Given the description of an element on the screen output the (x, y) to click on. 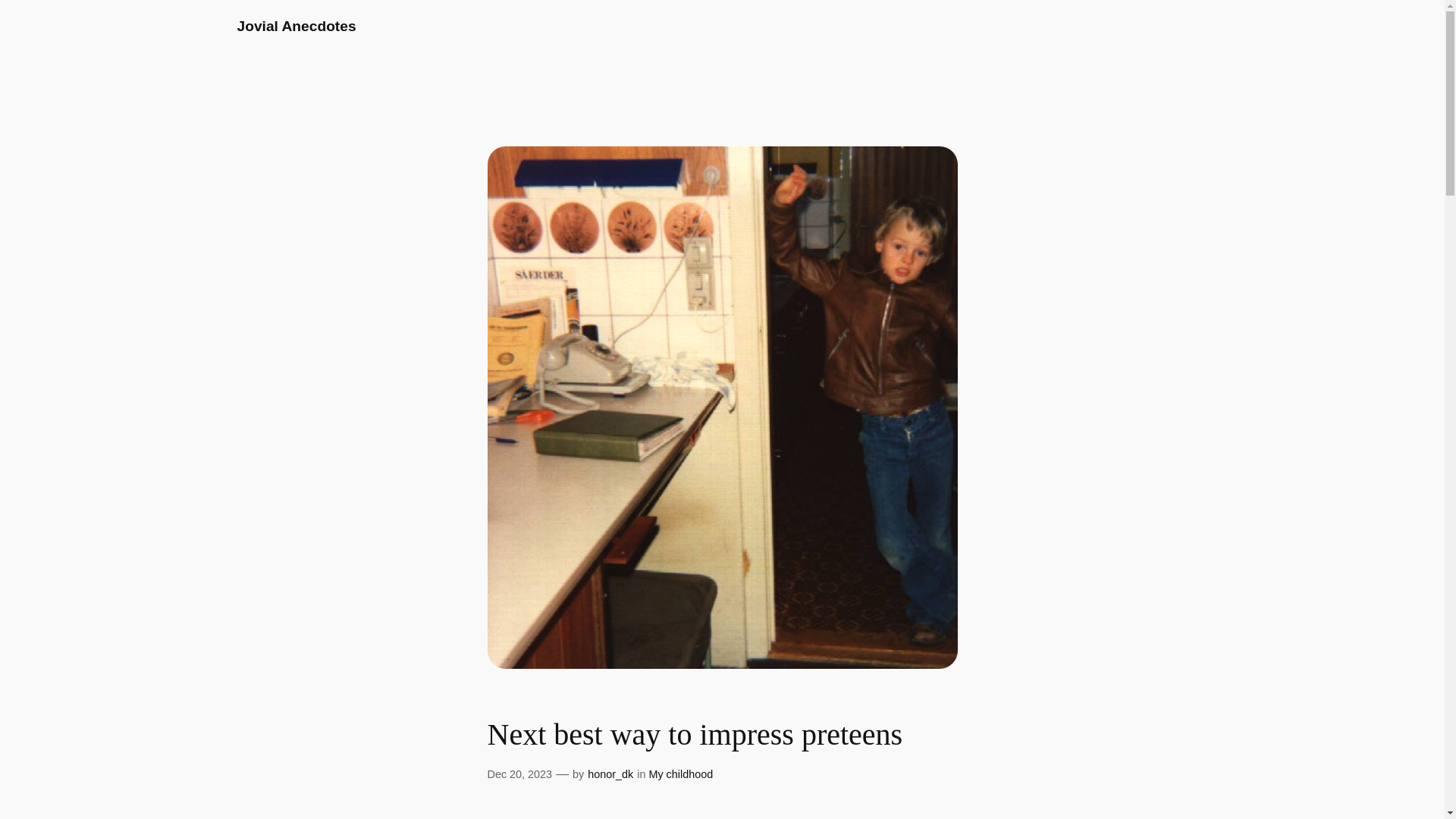
My childhood (680, 774)
Jovial Anecdotes (295, 26)
Dec 20, 2023 (518, 774)
